Given the description of an element on the screen output the (x, y) to click on. 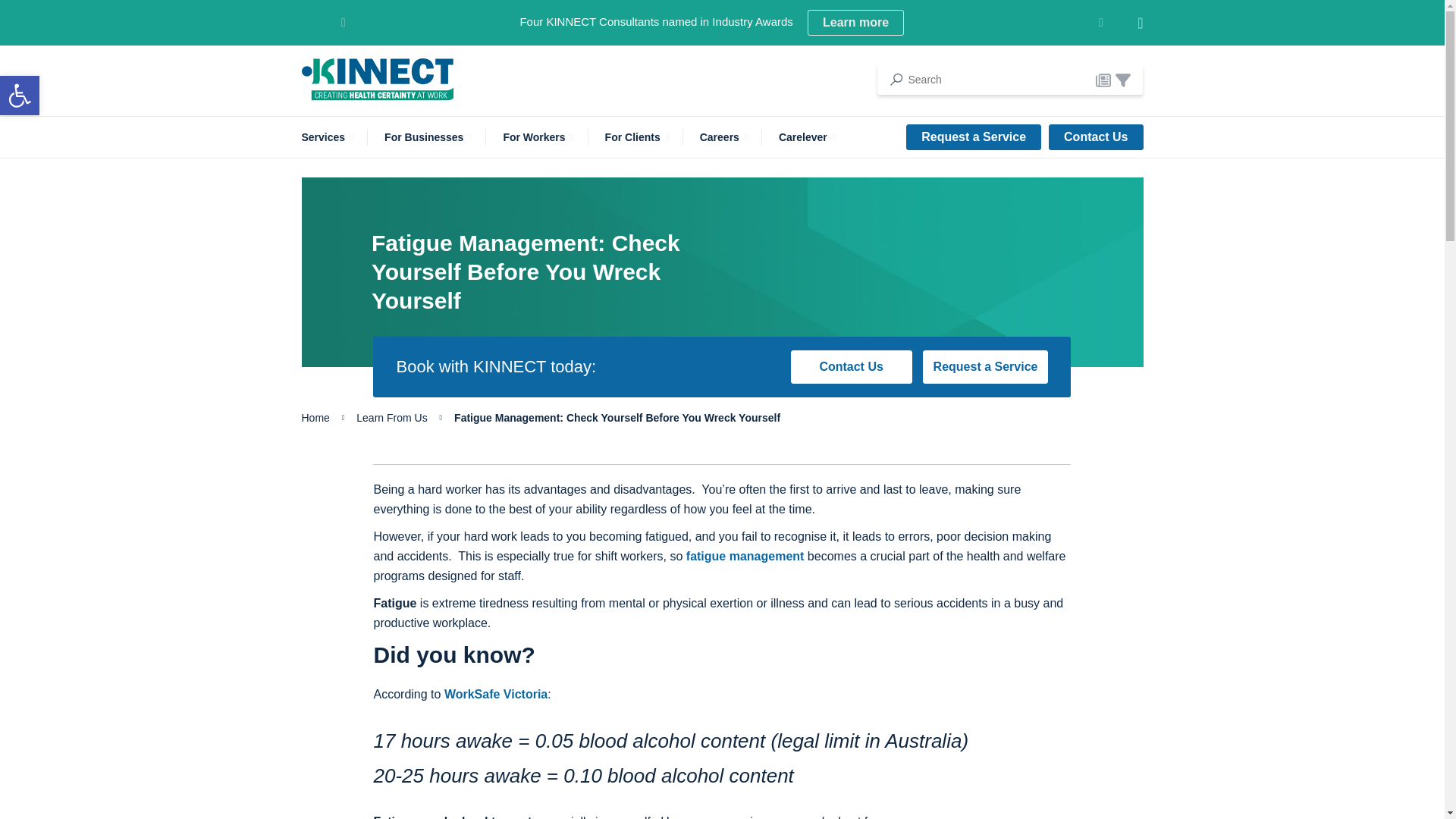
KINNECT (376, 79)
Learn more (856, 22)
Accessibility Tools (19, 95)
